Given the description of an element on the screen output the (x, y) to click on. 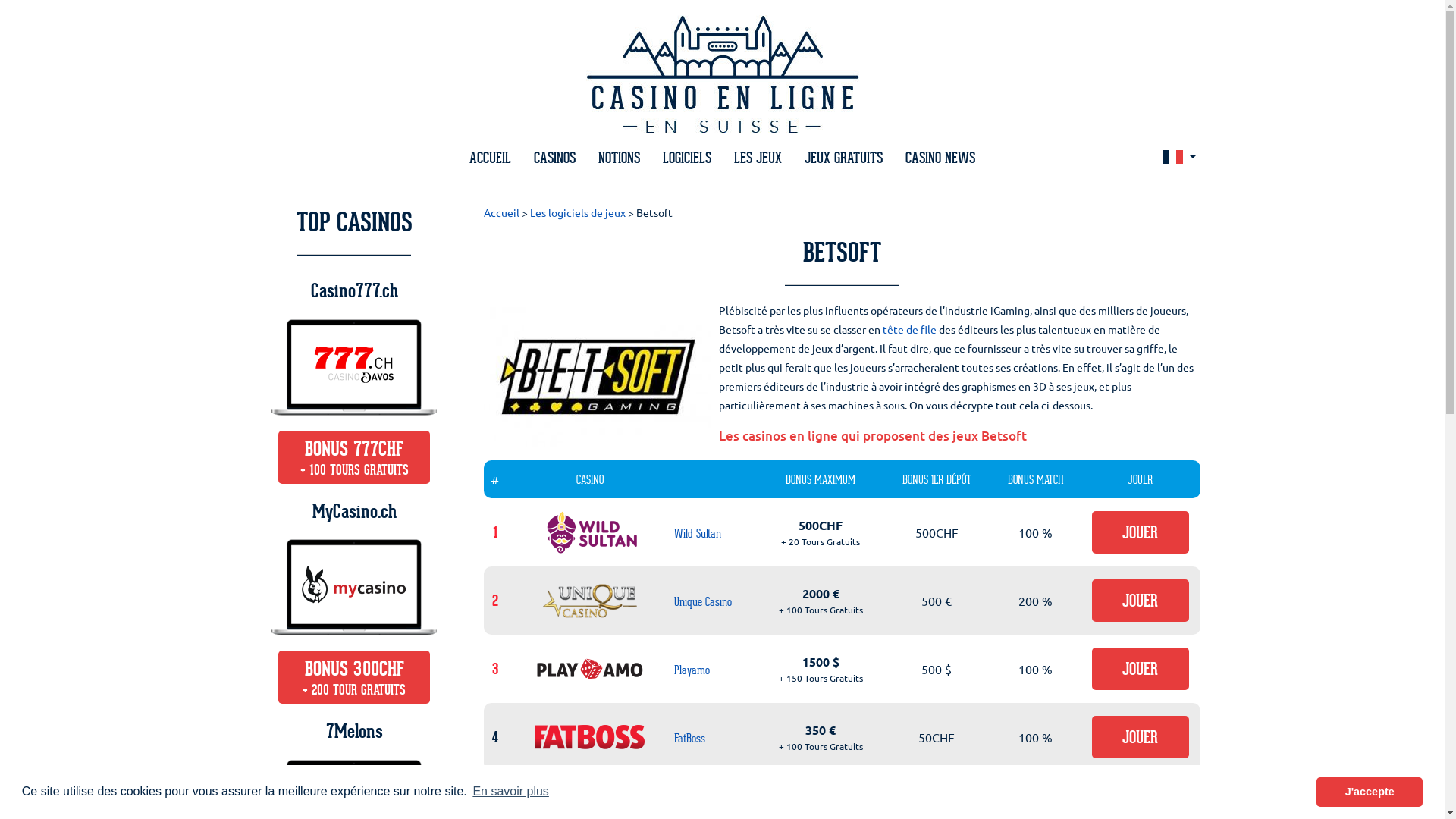
LOGICIELS Element type: text (686, 157)
ACCUEIL Element type: text (490, 157)
LES JEUX Element type: text (757, 157)
JOUER Element type: text (1140, 600)
DublinBet Element type: text (692, 806)
JOUER Element type: text (1140, 668)
En savoir plus Element type: text (510, 791)
Wild Sultan Element type: text (696, 533)
Accueil Element type: text (501, 212)
BONUS 777CHF
+ 100 TOURS GRATUITS Element type: text (353, 456)
Betsoft Element type: text (653, 212)
JEUX GRATUITS Element type: text (843, 157)
Unique Casino Element type: text (702, 601)
CASINO NEWS Element type: text (940, 157)
Playamo Element type: text (691, 669)
Les logiciels de jeux Element type: text (576, 212)
BONUS 300CHF
+ 200 TOUR GRATUITS Element type: text (353, 676)
JOUER Element type: text (1140, 532)
J'accepte Element type: text (1369, 791)
NOTIONS Element type: text (619, 157)
CASINOS Element type: text (554, 157)
FatBoss Element type: text (688, 738)
JOUER Element type: text (1140, 736)
